Given the description of an element on the screen output the (x, y) to click on. 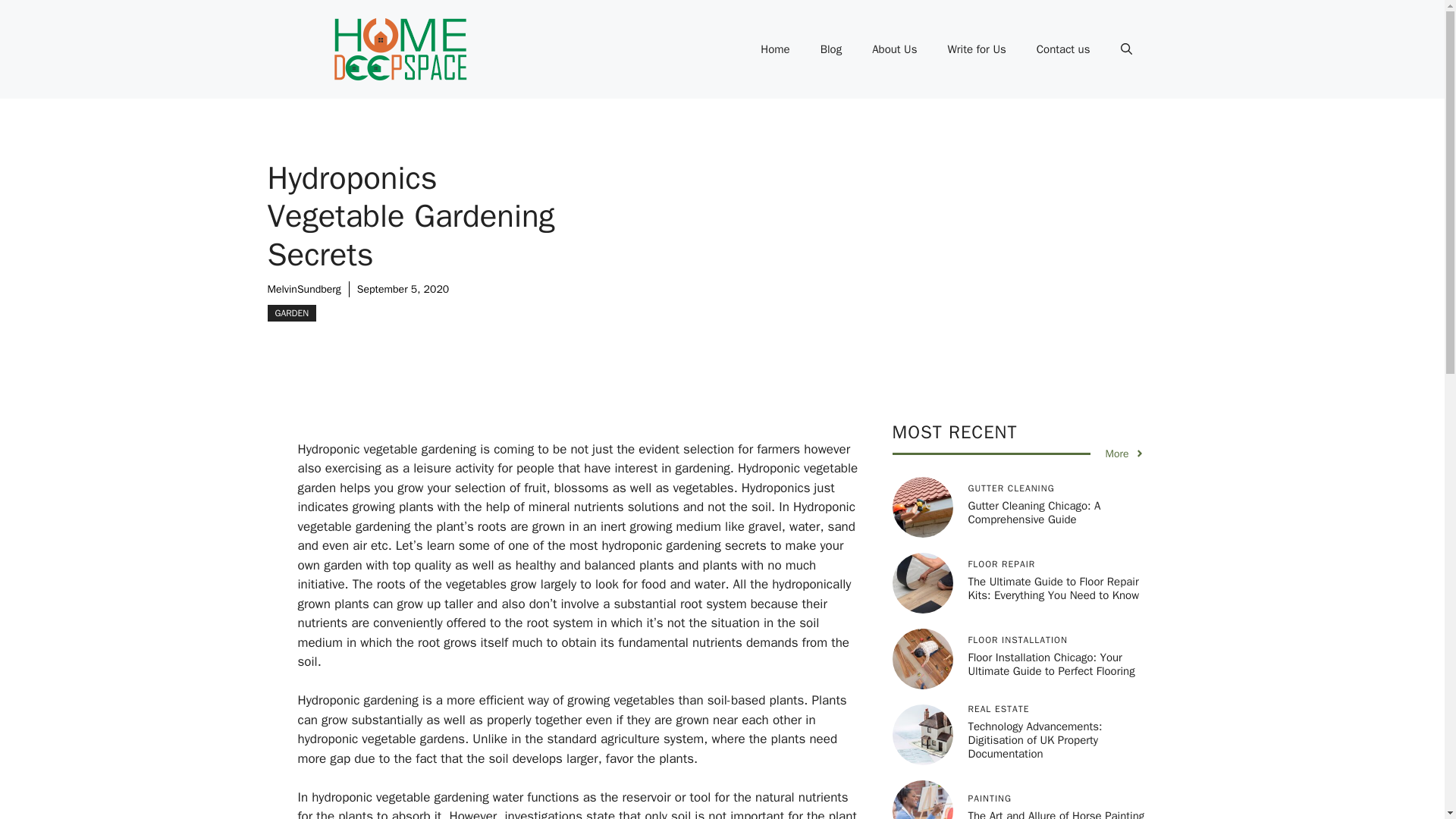
Contact us (1063, 49)
GARDEN (290, 312)
Blog (831, 49)
The Art and Allure of Horse Painting (1056, 814)
Home (775, 49)
About Us (894, 49)
More (1124, 453)
